Given the description of an element on the screen output the (x, y) to click on. 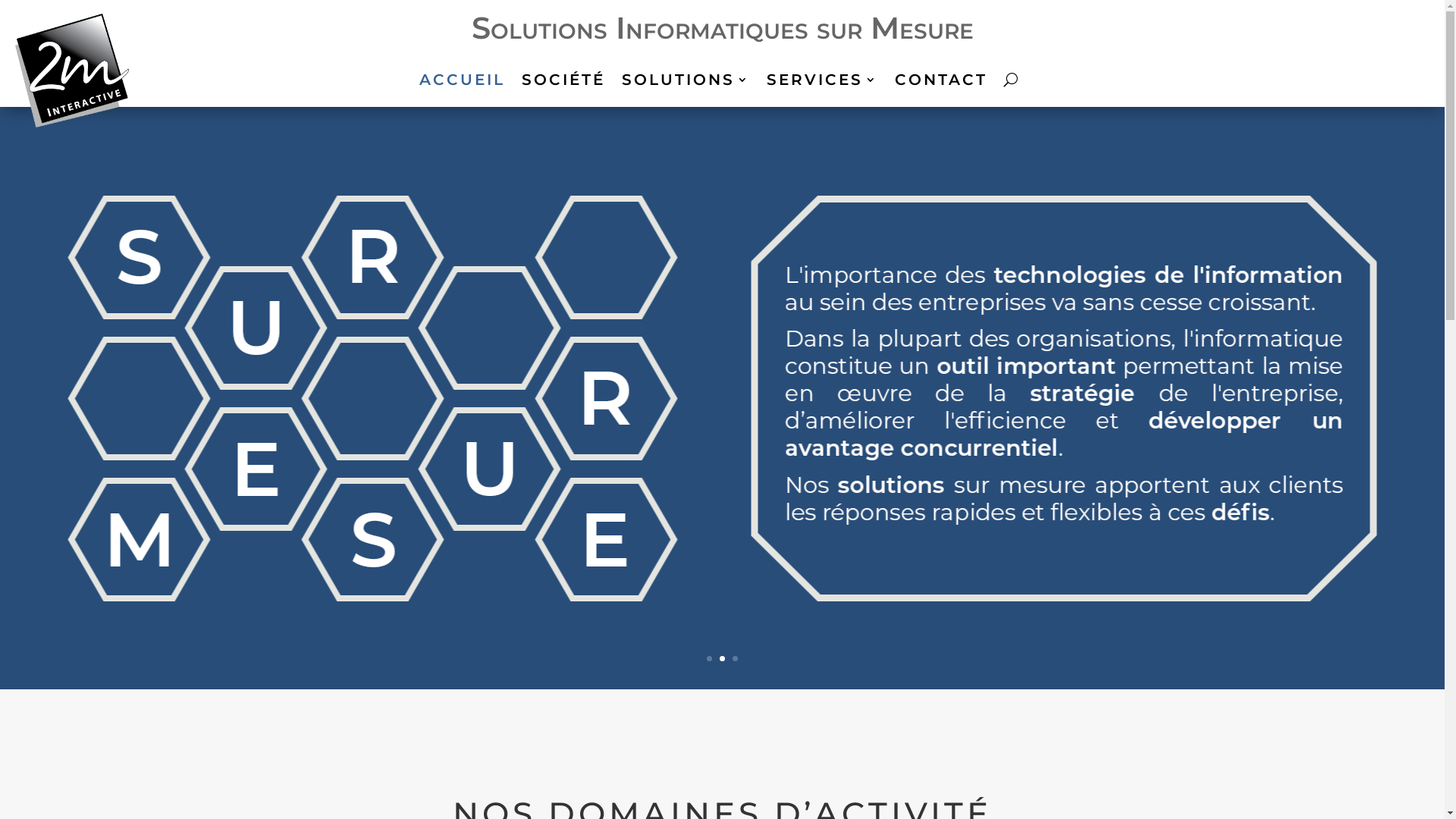
SERVICES Element type: text (821, 82)
1 Element type: text (709, 658)
3 Element type: text (734, 658)
CONTACT Element type: text (940, 82)
cropped-2mI-LOGO_2021.png Element type: hover (71, 70)
2 Element type: text (721, 658)
SOLUTIONS Element type: text (685, 82)
ACCUEIL Element type: text (461, 82)
